Given the description of an element on the screen output the (x, y) to click on. 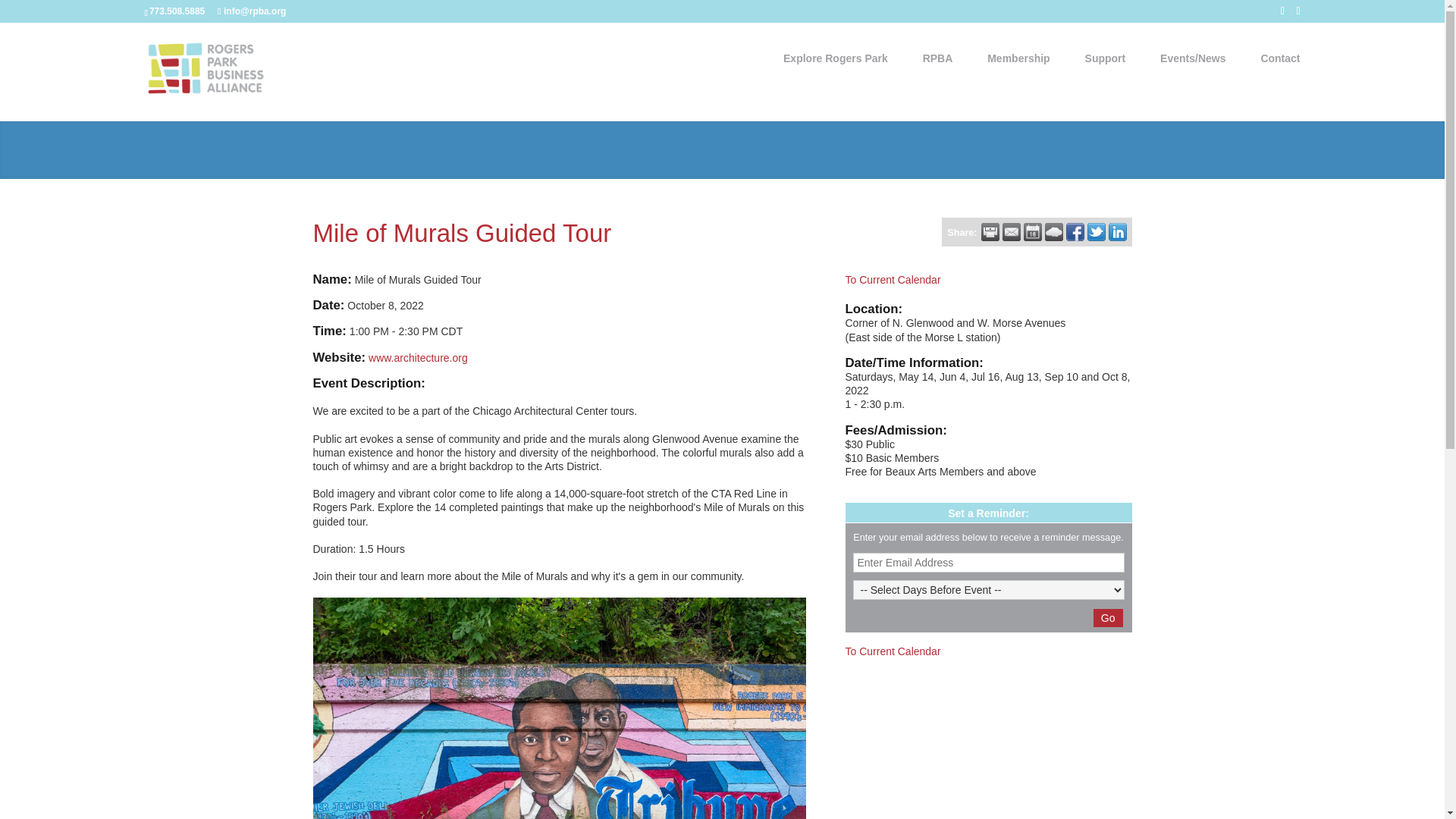
Print this Page (989, 231)
Enter Email Address (987, 562)
Go (1107, 618)
Add to Calendar (1032, 231)
Share on Facebook (1074, 231)
Share on LinkedIn (1117, 231)
Explore Rogers Park (842, 60)
View Current Weather (1053, 231)
RPBA (945, 60)
Share on Twitter (1096, 231)
